Given the description of an element on the screen output the (x, y) to click on. 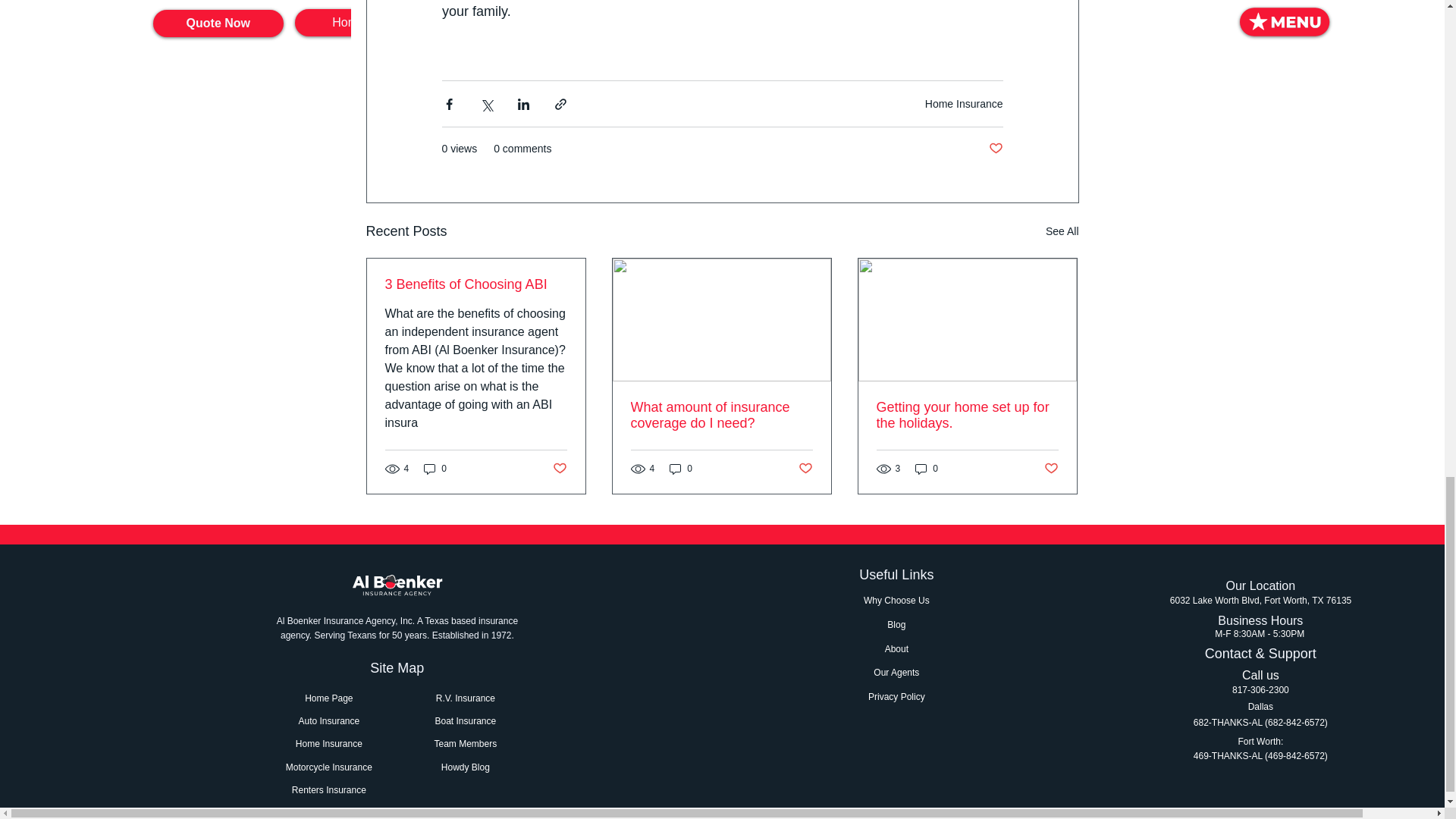
What amount of insurance coverage do I need? (721, 415)
Post not marked as liked (558, 467)
Home Insurance (963, 103)
Post not marked as liked (995, 148)
0 (435, 468)
3 Benefits of Choosing ABI (476, 284)
0 (681, 468)
Post not marked as liked (804, 467)
See All (1061, 231)
